Given the description of an element on the screen output the (x, y) to click on. 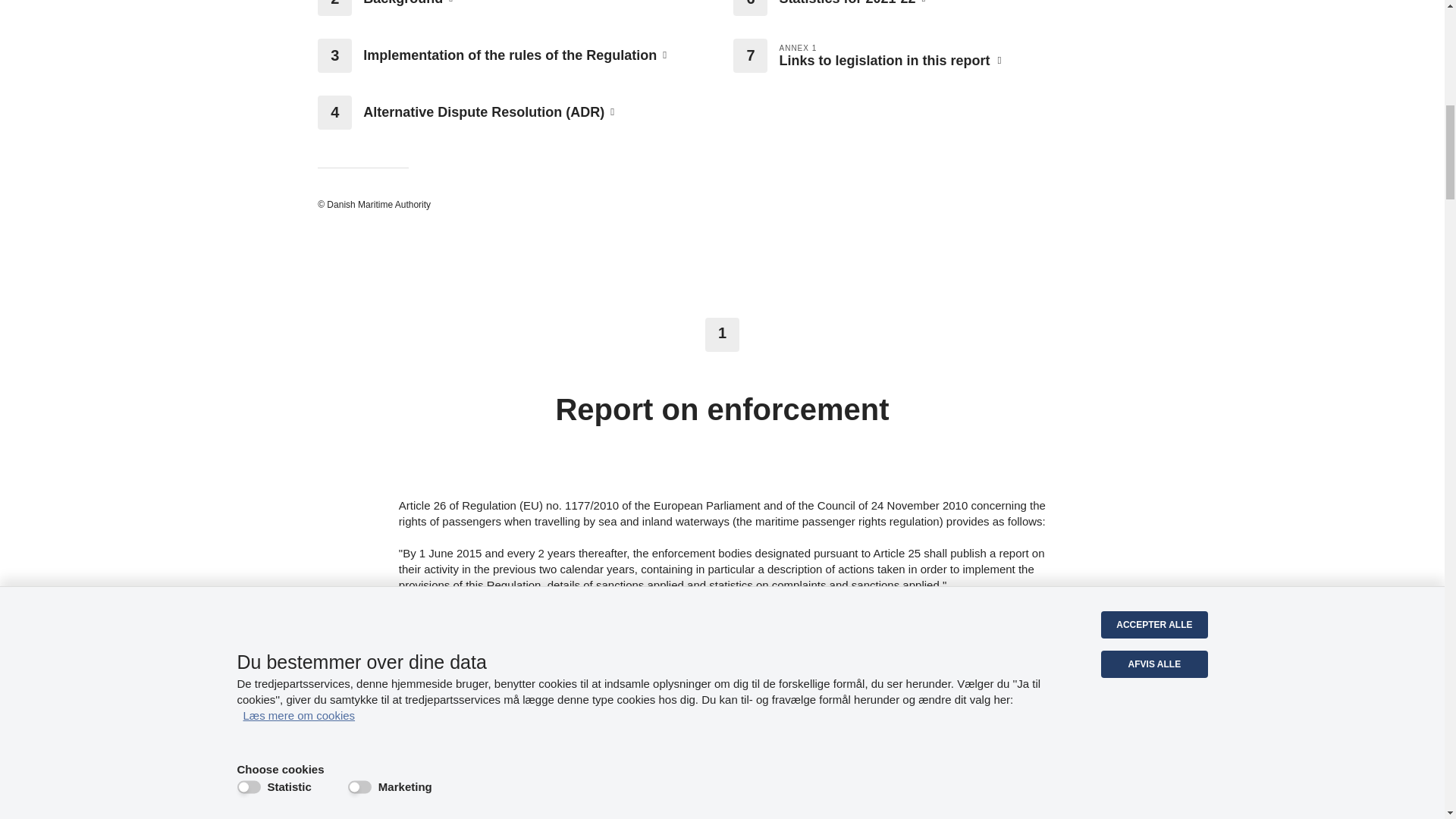
Statistics for 2021-22 (951, 4)
Implementation of the rules of the Regulation (536, 55)
Background (536, 4)
Links to legislation in this report (951, 60)
